Given the description of an element on the screen output the (x, y) to click on. 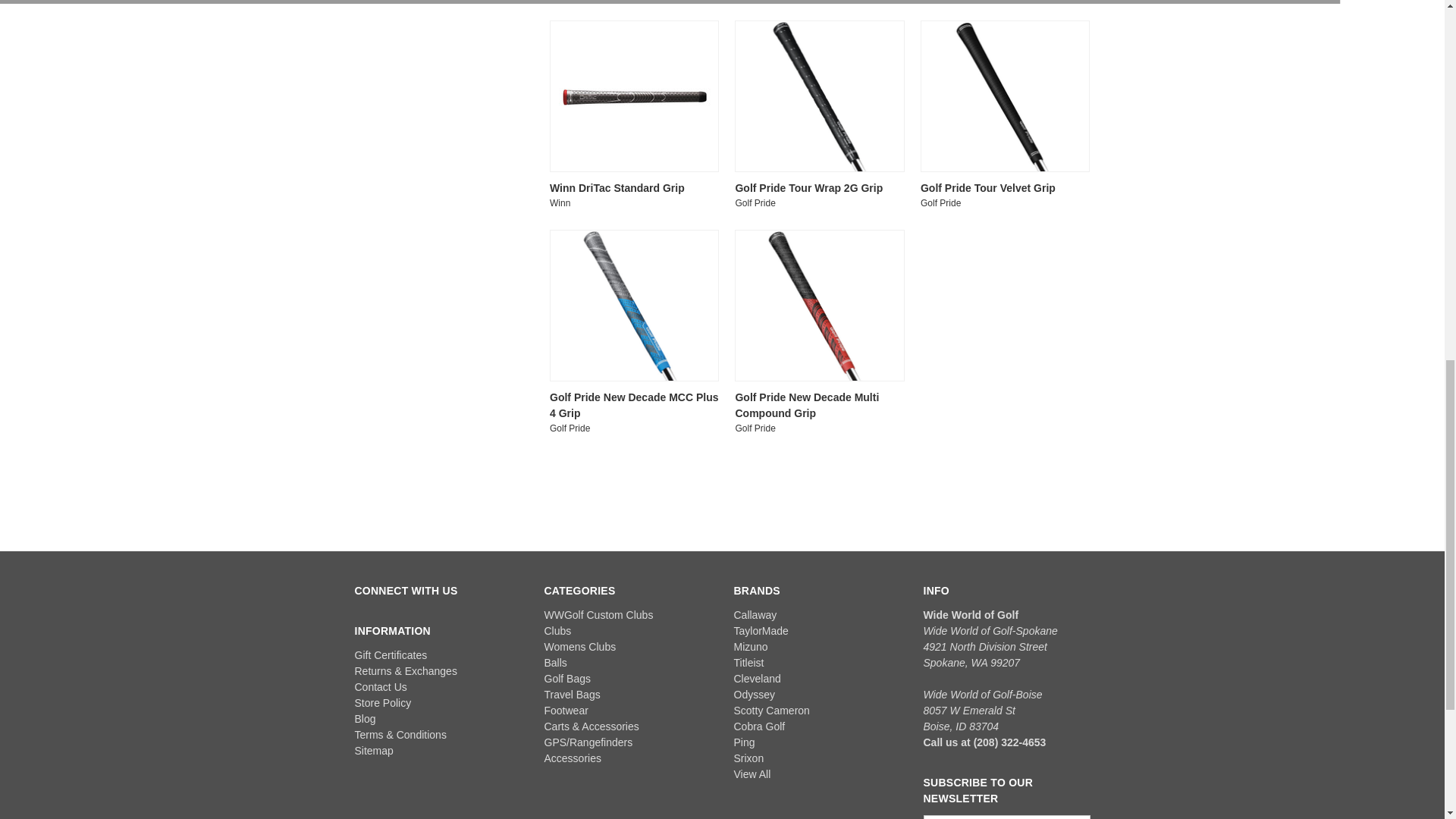
Golf Pride Tour Wrap 2G Grip (819, 96)
Golf Pride Tour Velvet Grip (1005, 96)
BLUE (634, 305)
Winn DriTac Standard Grip (634, 96)
